Given the description of an element on the screen output the (x, y) to click on. 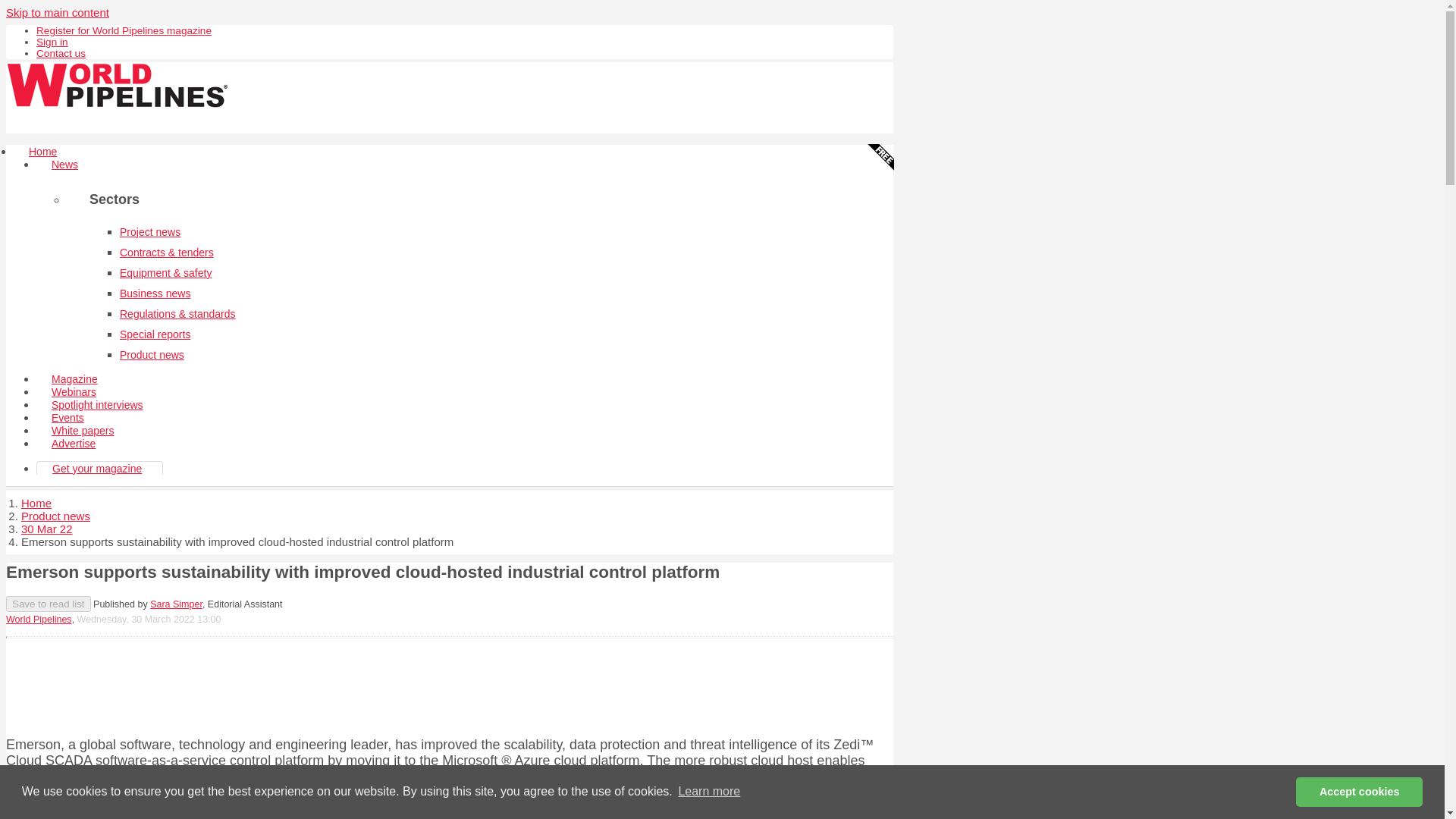
Home (35, 502)
30 Mar 22 (46, 528)
Webinars (74, 391)
Spotlight interviews (97, 404)
Magazine (74, 379)
Sara Simper (175, 603)
White papers (82, 430)
Home (42, 151)
Accept cookies (1358, 791)
Sign in (52, 41)
Skip to main content (57, 11)
Events (67, 417)
Sign in (52, 41)
3rd party ad content (449, 683)
Business news (154, 293)
